Given the description of an element on the screen output the (x, y) to click on. 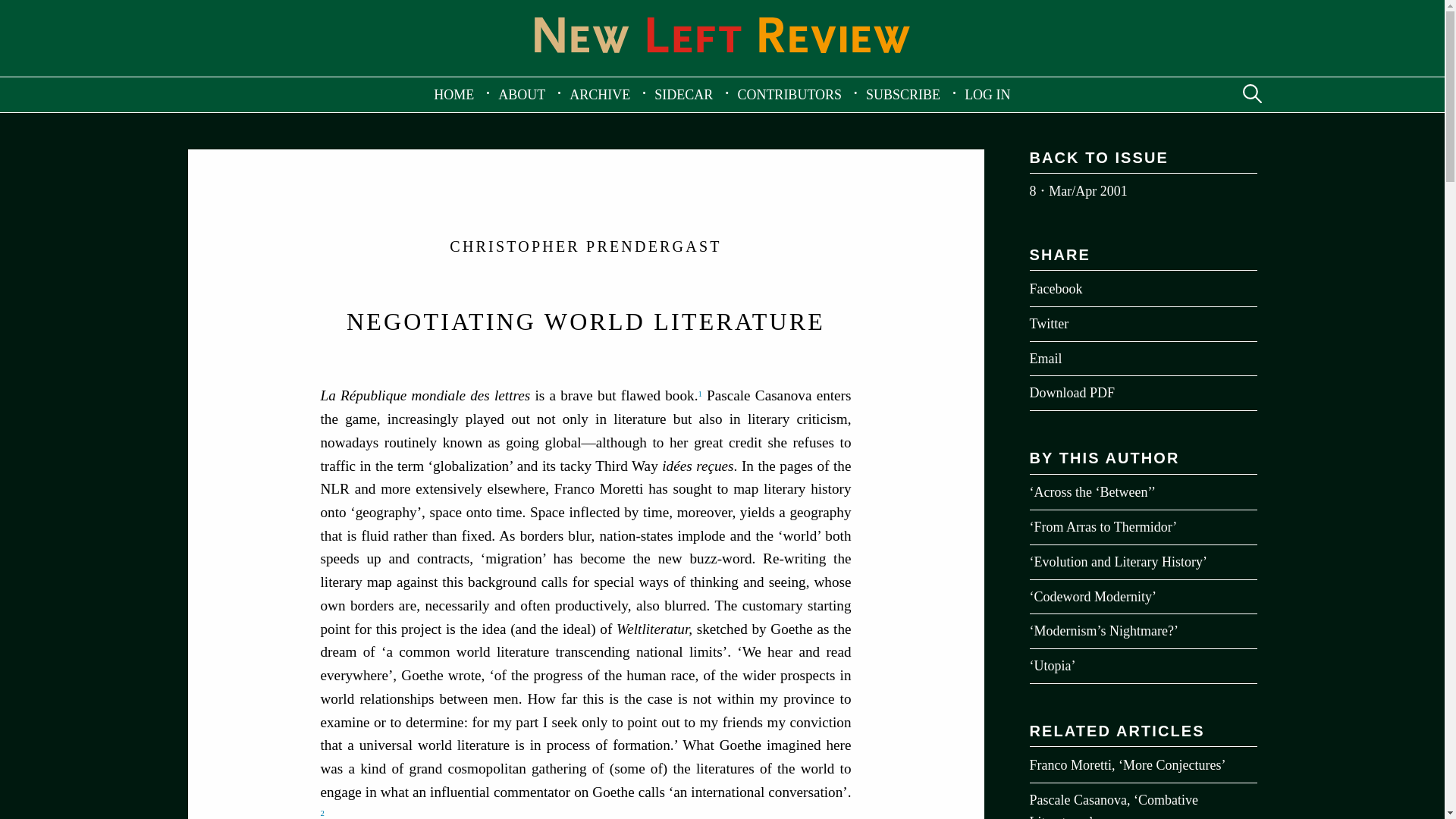
Facebook (1143, 288)
NEW LEFT REVIEW (722, 35)
SIDECAR (683, 94)
HOME (454, 94)
NEW LEFT REVIEW (721, 65)
SUBSCRIBE (902, 94)
LOG IN (987, 94)
CONTRIBUTORS (789, 94)
Email (1143, 358)
ARCHIVE (599, 94)
ABOUT (521, 94)
Download PDF (585, 814)
Twitter (1143, 392)
